Given the description of an element on the screen output the (x, y) to click on. 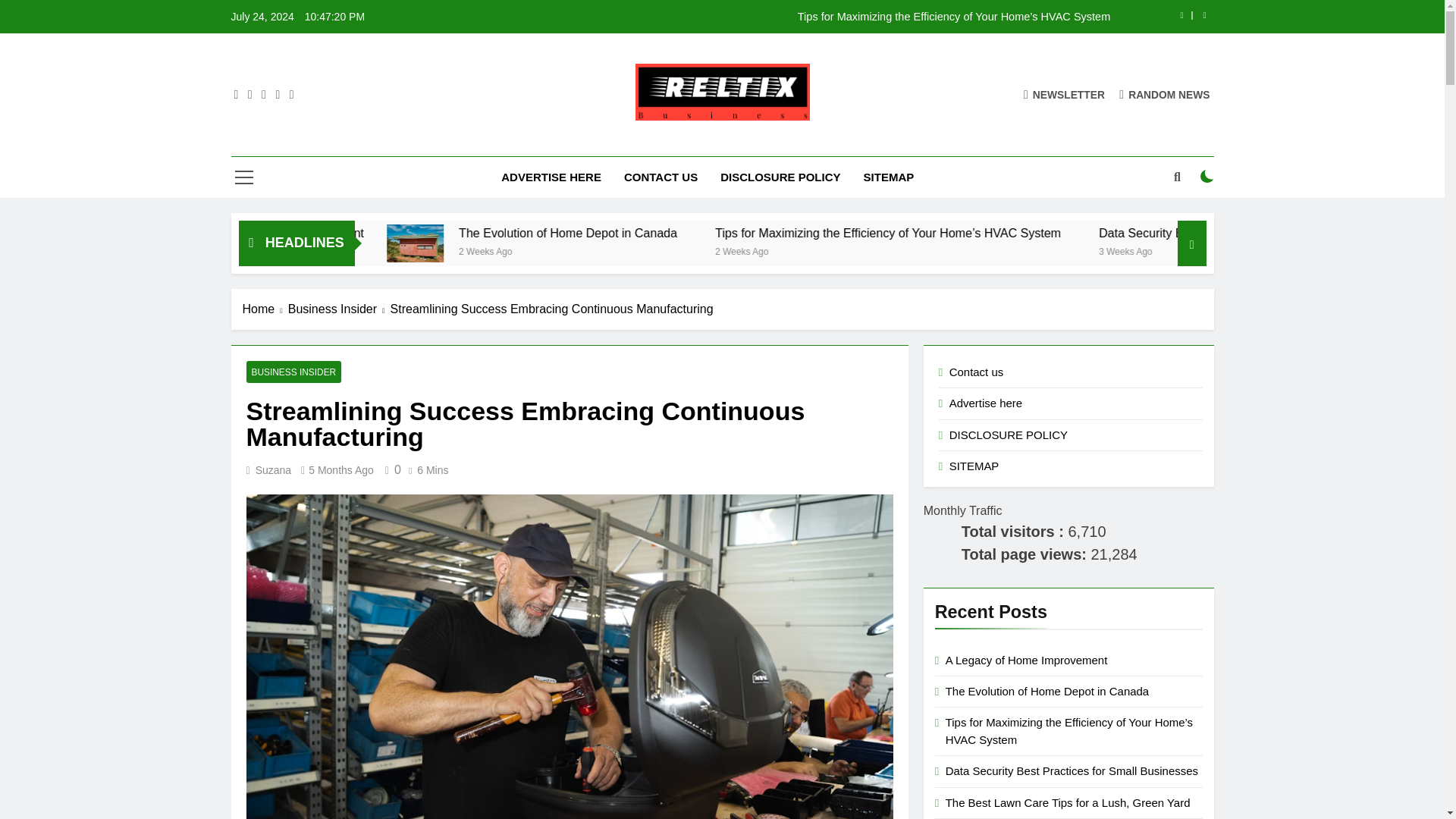
A Legacy of Home Improvement (454, 233)
NEWSLETTER (1064, 93)
on (1206, 176)
CONTACT US (660, 177)
Reltix (523, 142)
The Evolution of Home Depot in Canada (737, 233)
SITEMAP (888, 177)
The Evolution of Home Depot in Canada (544, 243)
The Evolution of Home Depot in Canada (540, 243)
DISCLOSURE POLICY (780, 177)
The Evolution of Home Depot in Canada (691, 233)
2 Weeks Ago (903, 250)
2 Weeks Ago (392, 250)
ADVERTISE HERE (550, 177)
RANDOM NEWS (1164, 93)
